Given the description of an element on the screen output the (x, y) to click on. 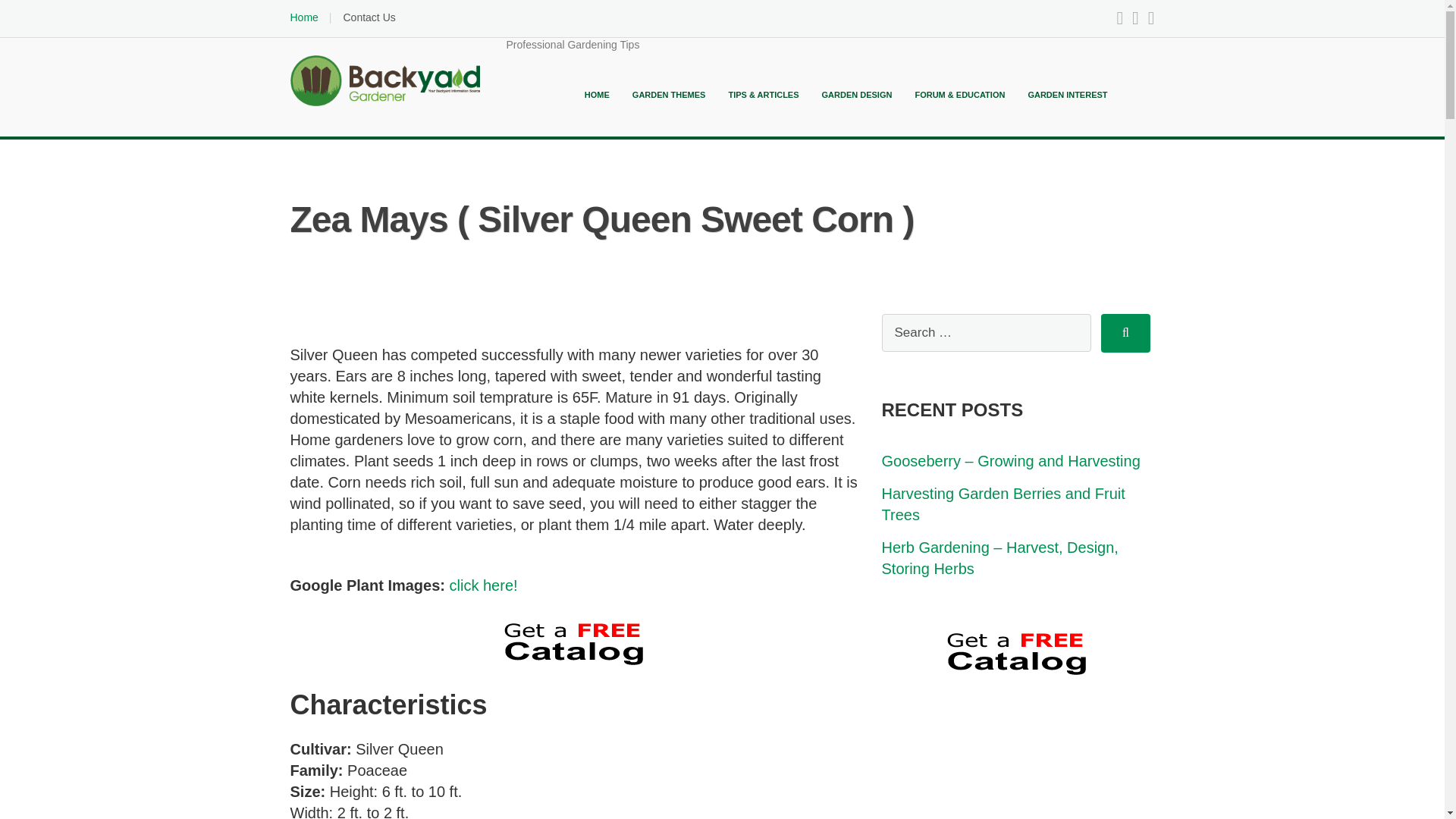
GARDEN THEMES (668, 94)
Home (303, 17)
Contact Us (368, 17)
HOME (597, 94)
GARDEN DESIGN (857, 94)
Search for: (985, 332)
